Given the description of an element on the screen output the (x, y) to click on. 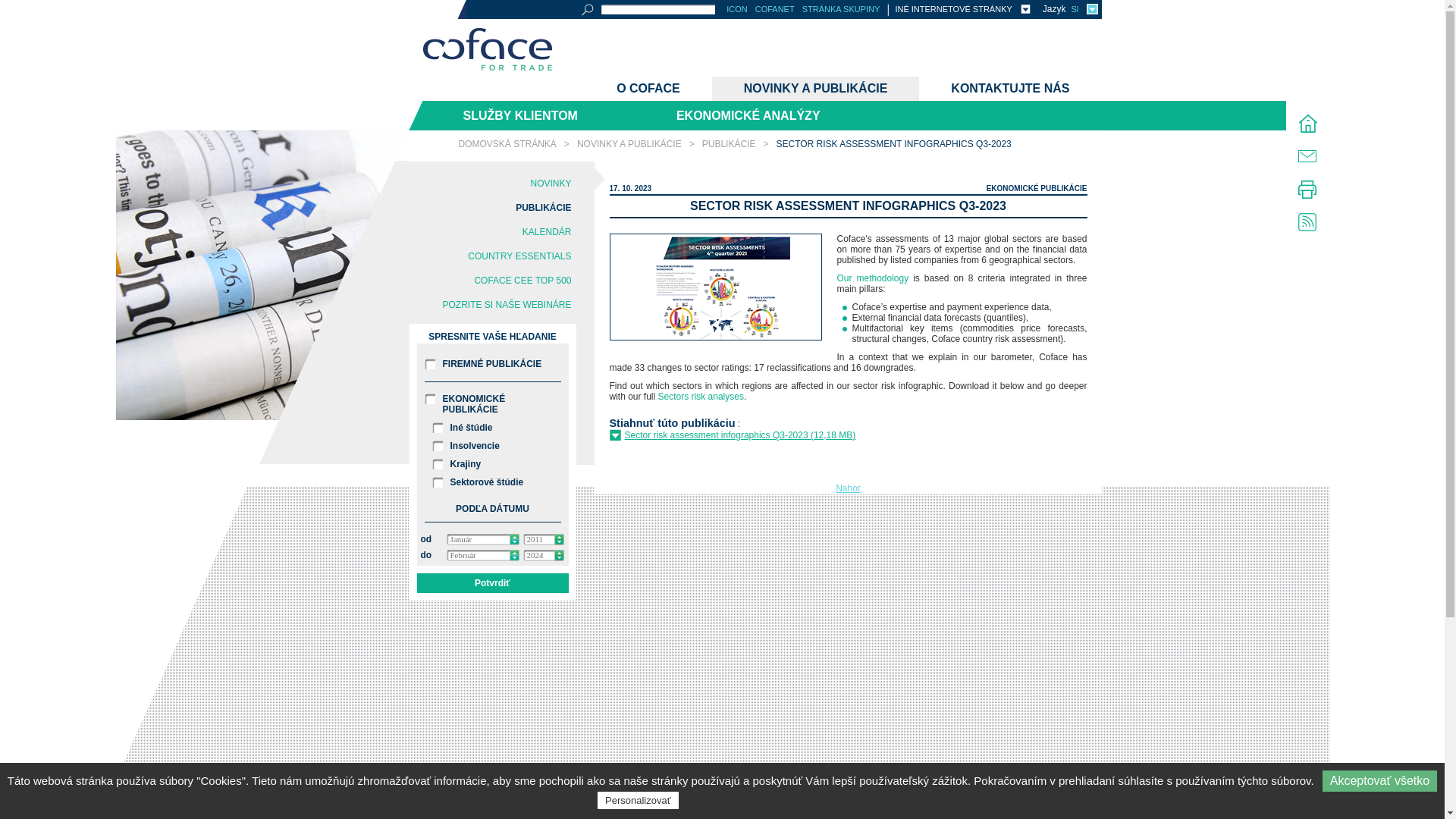
Coface (487, 50)
O Coface (647, 88)
ICON (737, 9)
